Given the description of an element on the screen output the (x, y) to click on. 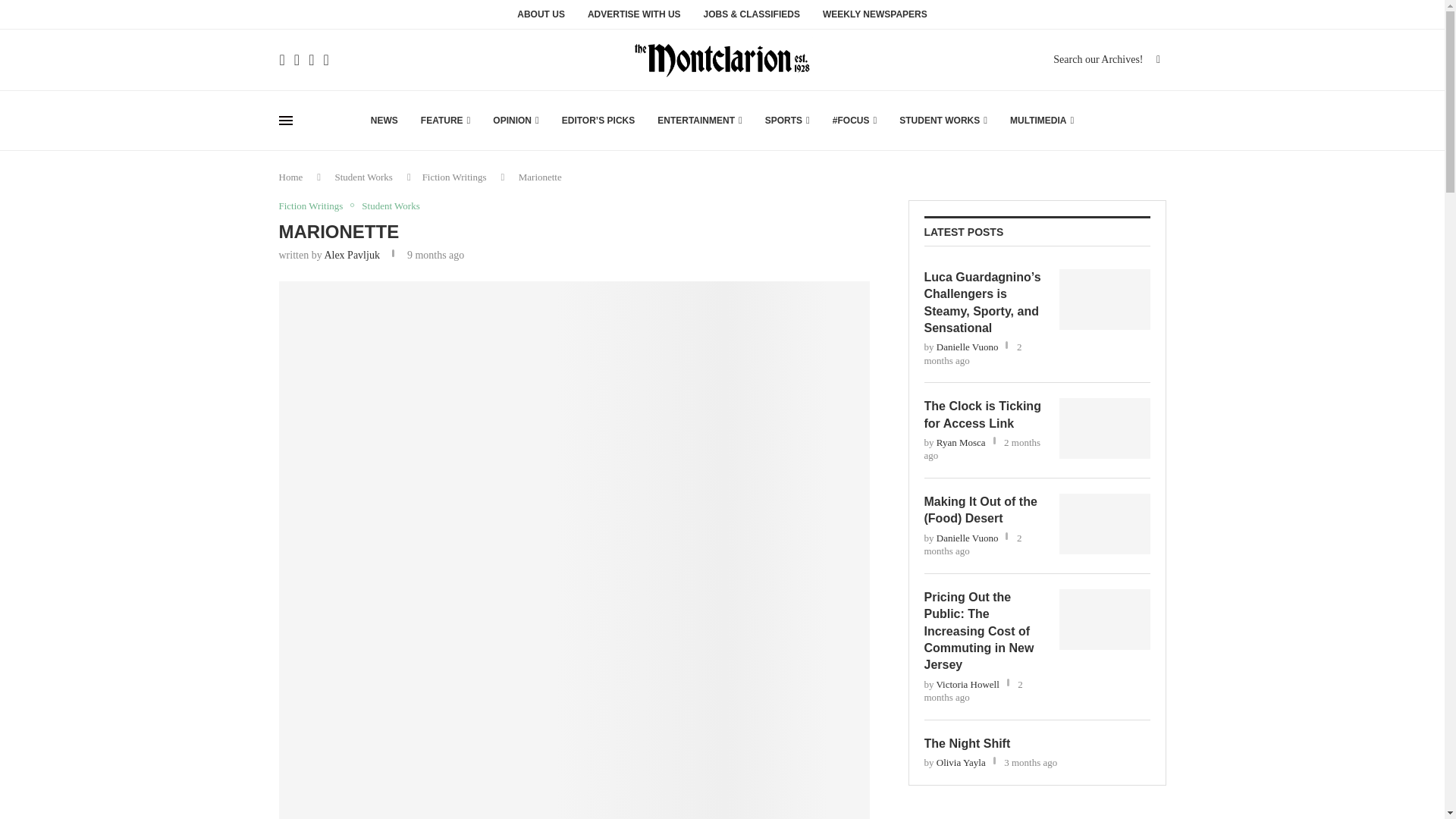
WEEKLY NEWSPAPERS (874, 18)
Alex Pavljuk (351, 255)
FEATURE (445, 120)
ABOUT US (540, 18)
OPINION (515, 120)
The Clock is Ticking for Access Link (1104, 428)
ADVERTISE WITH US (634, 18)
ENTERTAINMENT (700, 120)
SPORTS (787, 120)
The Clock is Ticking for Access Link (983, 415)
